Given the description of an element on the screen output the (x, y) to click on. 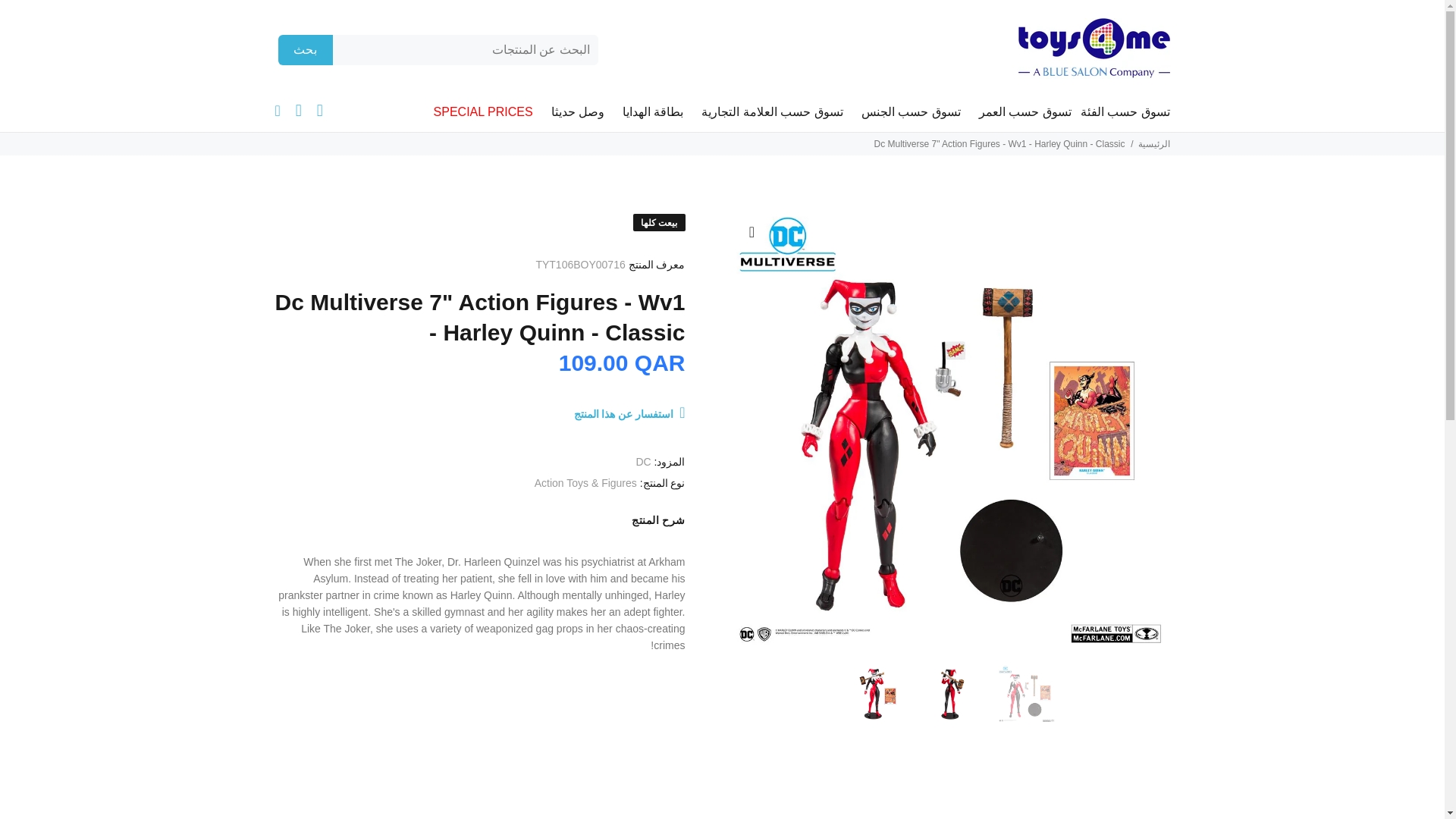
DC (642, 461)
